Given the description of an element on the screen output the (x, y) to click on. 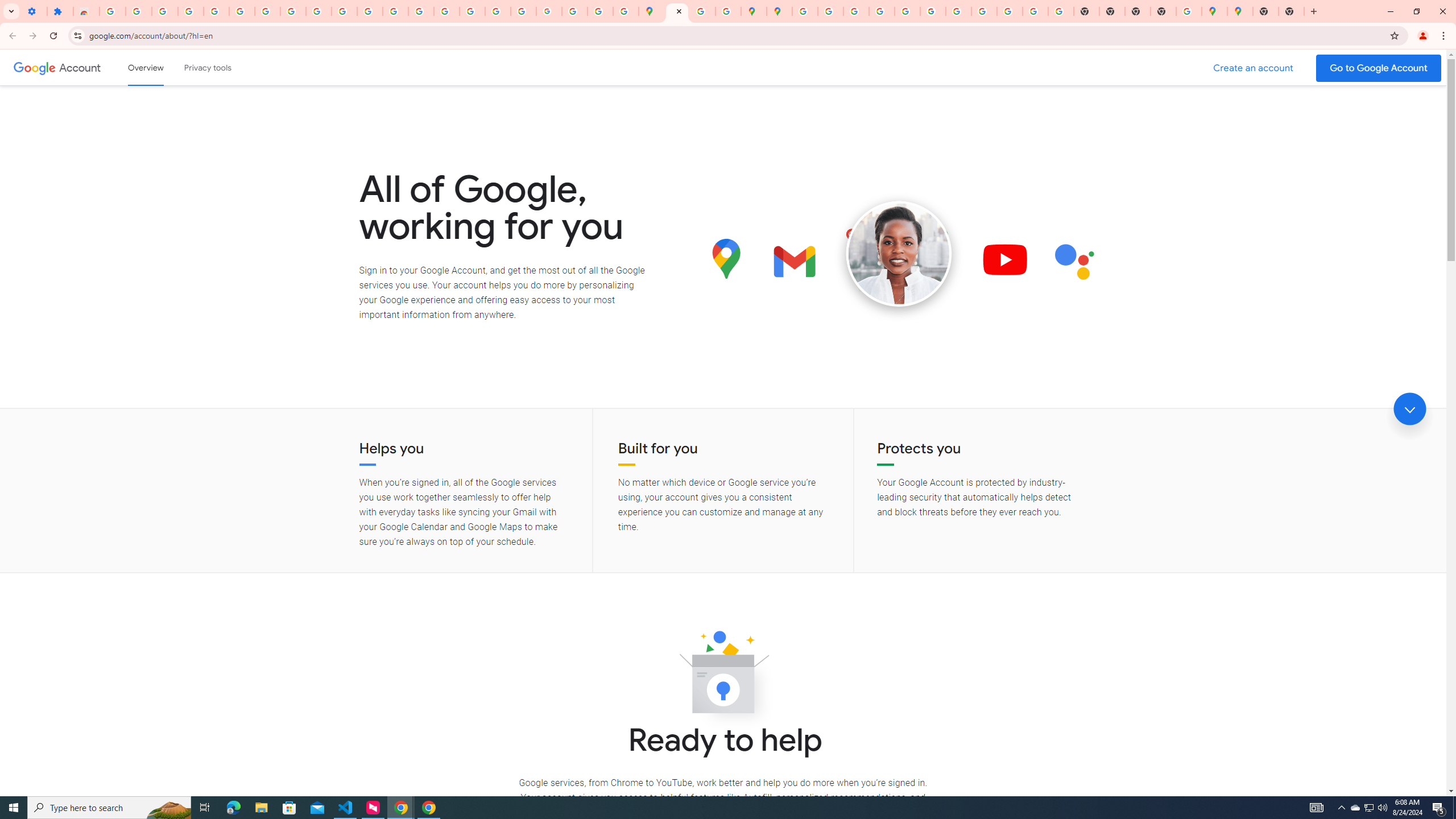
Privacy tools (207, 67)
New Tab (1291, 11)
Reviews: Helix Fruit Jump Arcade Game (86, 11)
Extensions (60, 11)
Sign in - Google Accounts (112, 11)
Sign in - Google Accounts (804, 11)
Google Account Help (242, 11)
